Given the description of an element on the screen output the (x, y) to click on. 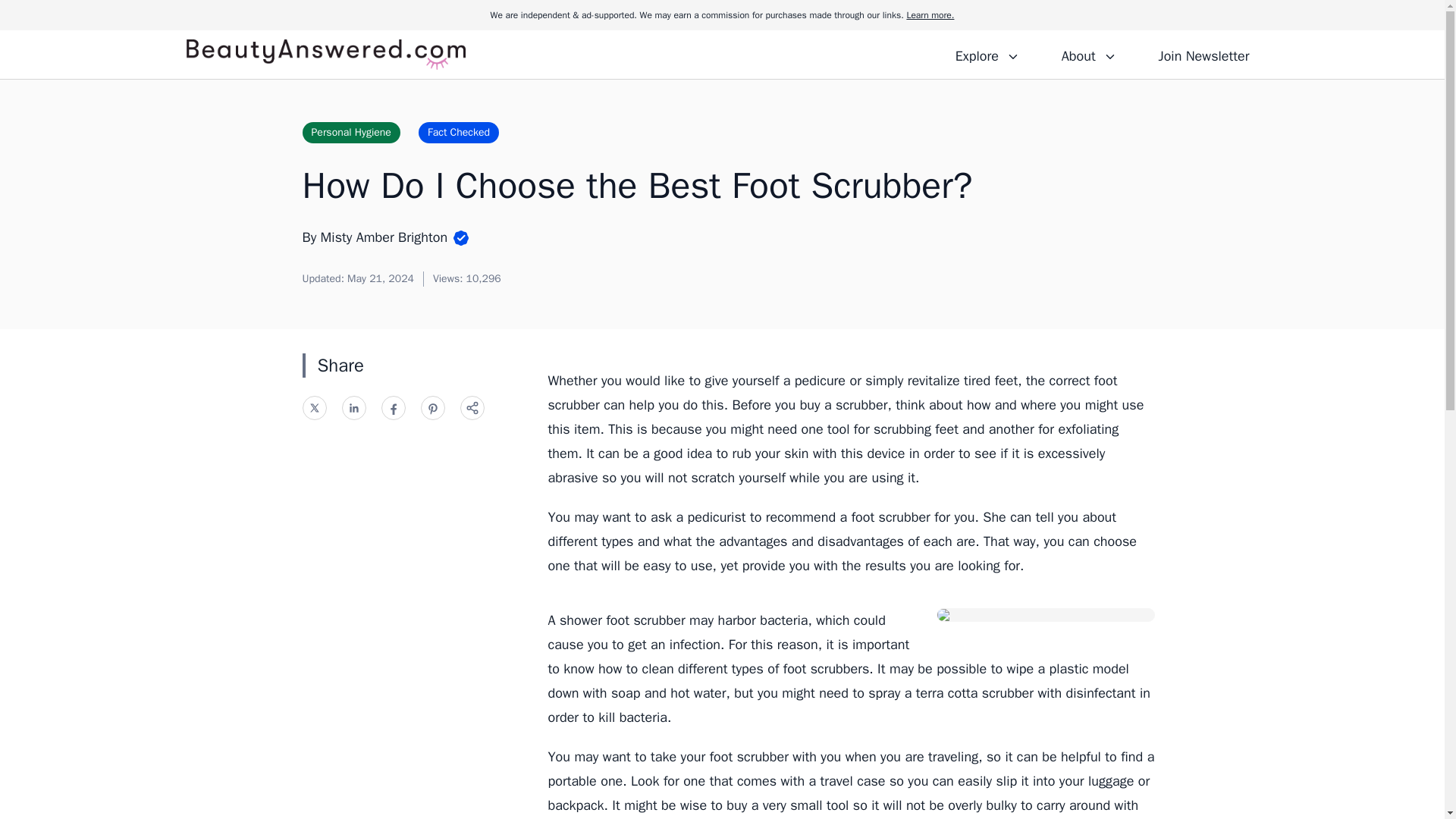
Personal Hygiene (349, 132)
Learn more. (929, 15)
About (1088, 54)
Fact Checked (459, 132)
Join Newsletter (1202, 54)
Explore (986, 54)
